Given the description of an element on the screen output the (x, y) to click on. 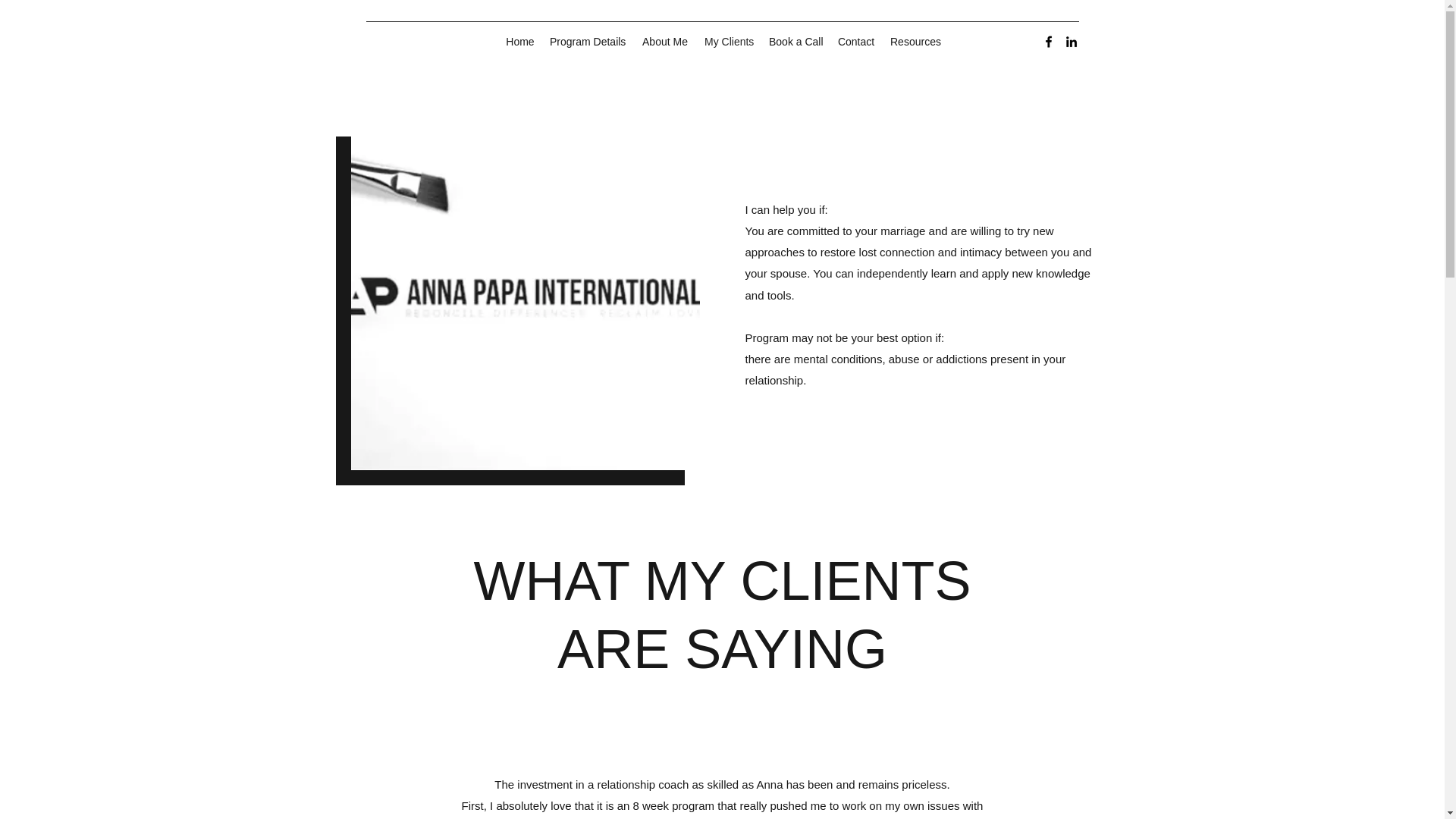
Program Details (587, 41)
Contact (855, 41)
My Clients (729, 41)
Resources (914, 41)
About Me (665, 41)
Book a Call (795, 41)
Home (519, 41)
